Given the description of an element on the screen output the (x, y) to click on. 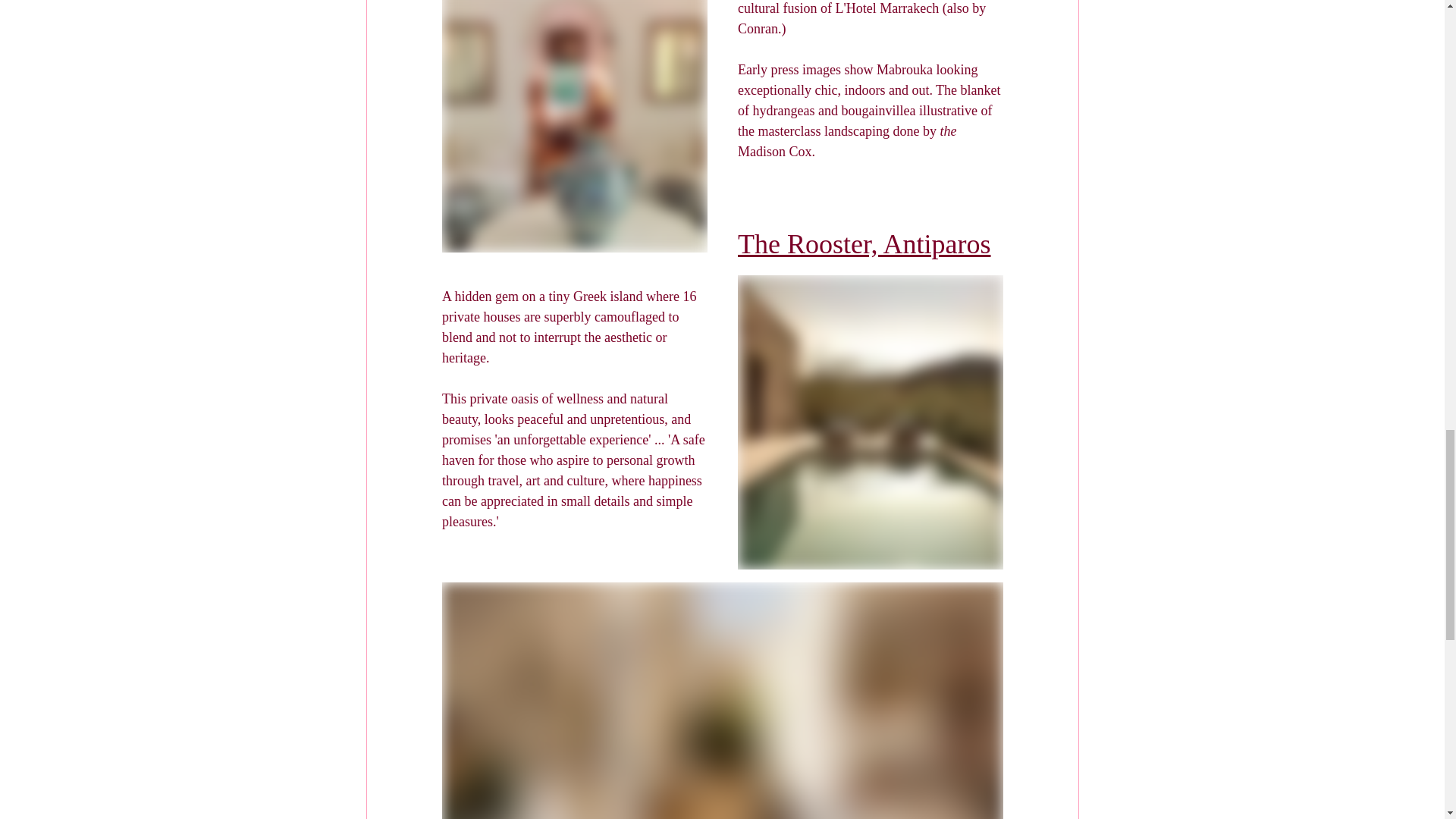
The Rooster, Antiparos (863, 248)
